Given the description of an element on the screen output the (x, y) to click on. 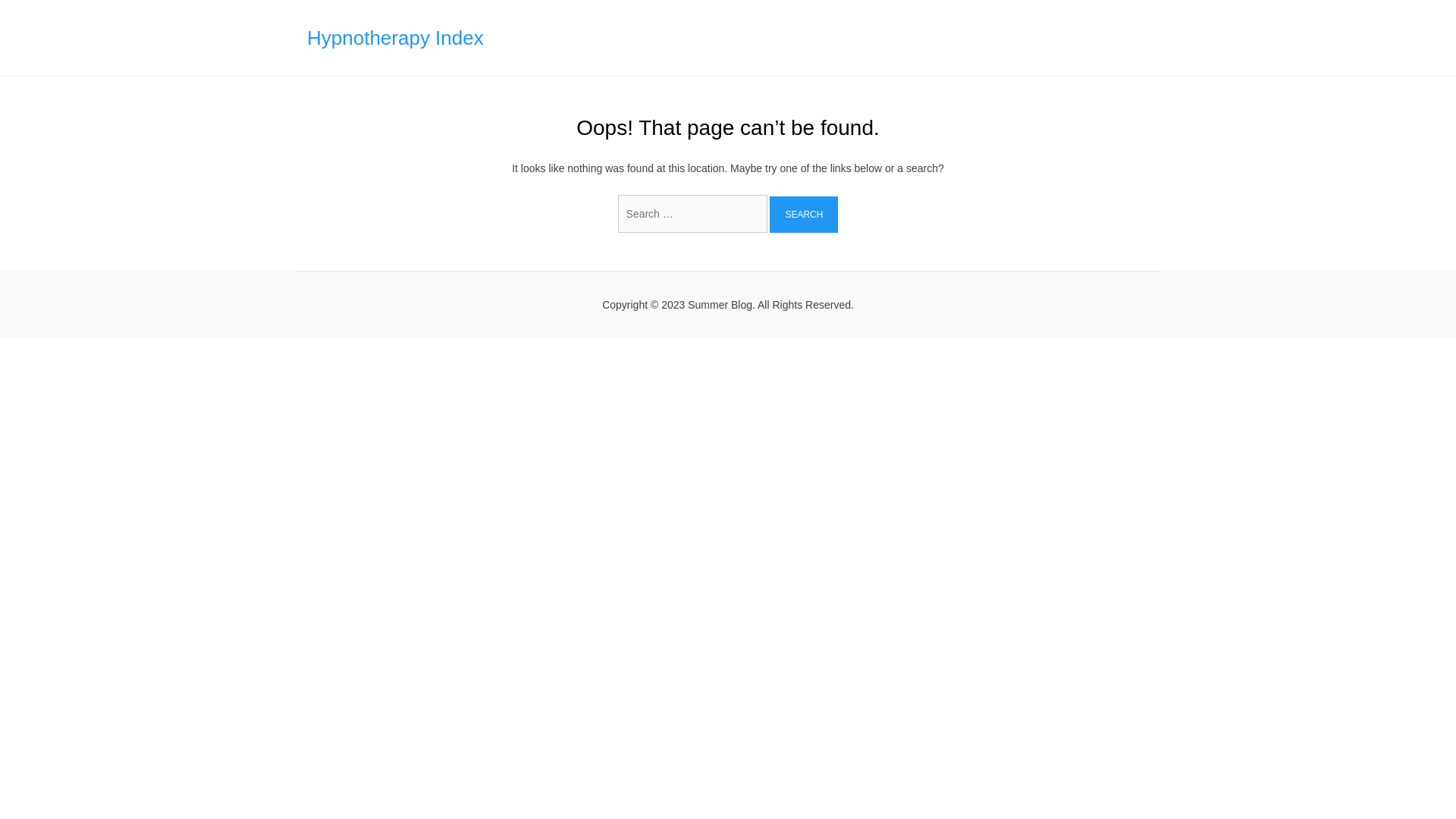
Search (804, 214)
Search (804, 214)
Hypnotherapy Index (395, 37)
Search (804, 214)
